Given the description of an element on the screen output the (x, y) to click on. 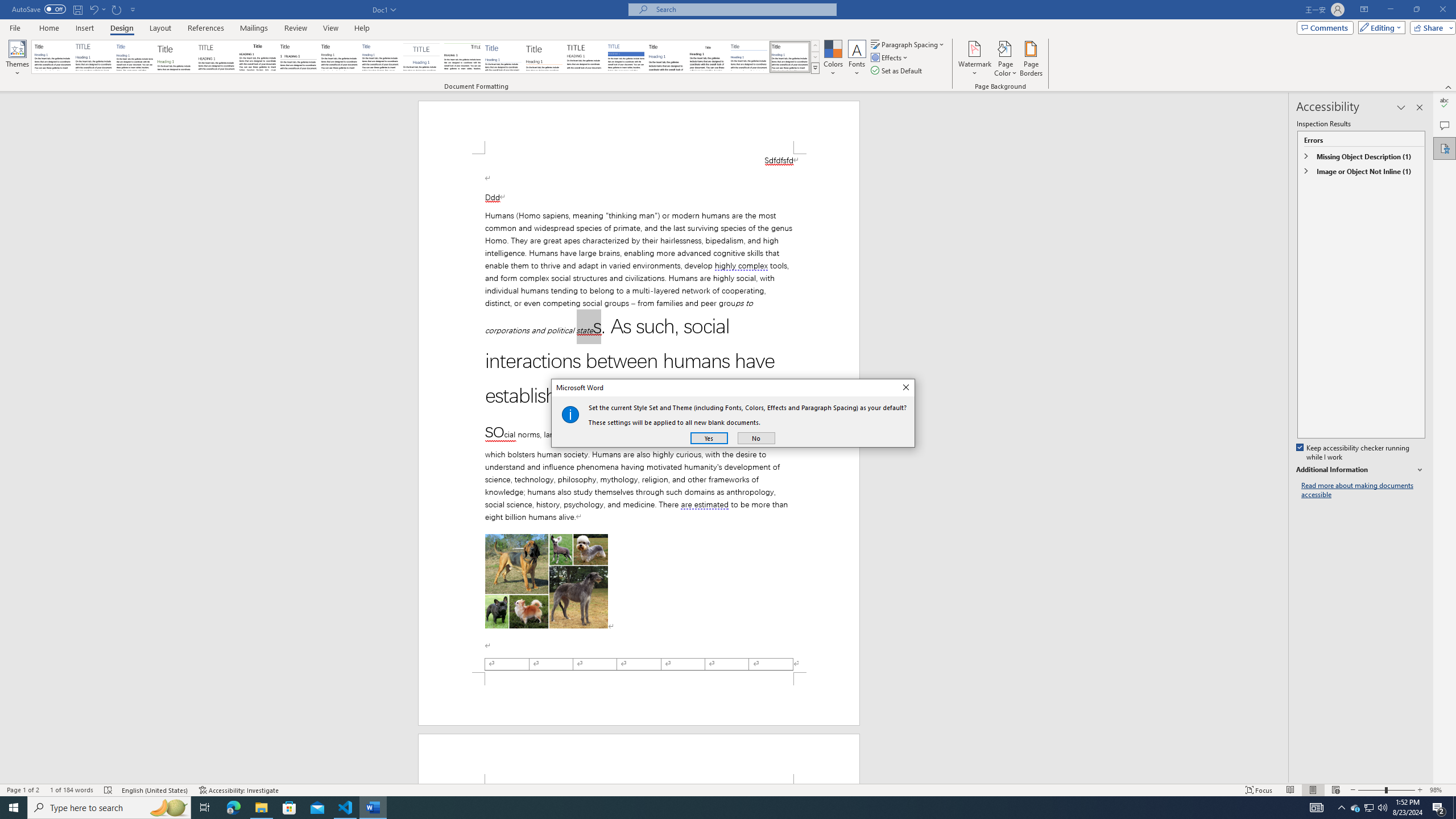
Document (52, 56)
Additional Information (1360, 469)
